Given the description of an element on the screen output the (x, y) to click on. 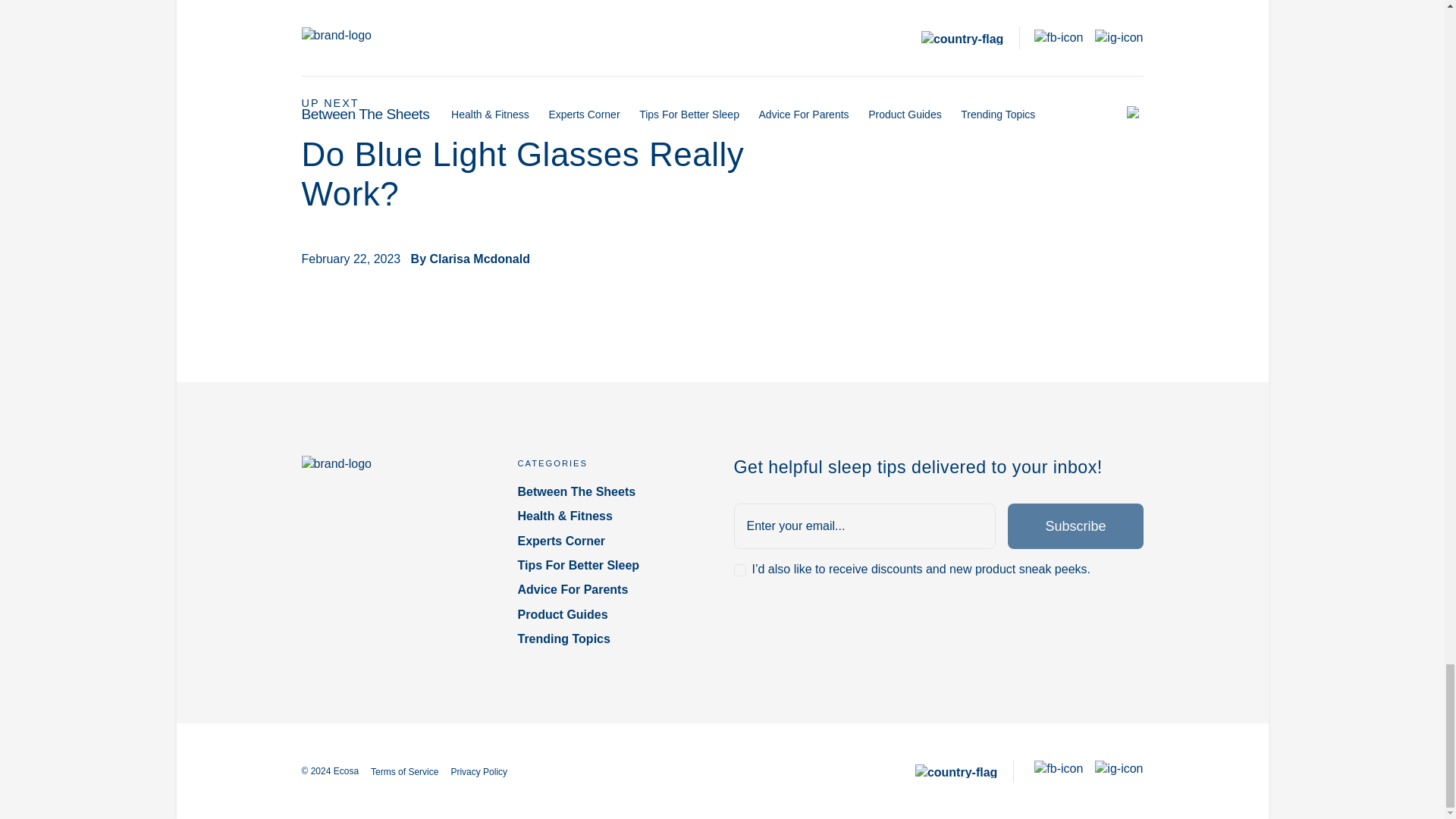
Subscribe (1074, 525)
Between The Sheets (613, 492)
Experts Corner (613, 541)
